Given the description of an element on the screen output the (x, y) to click on. 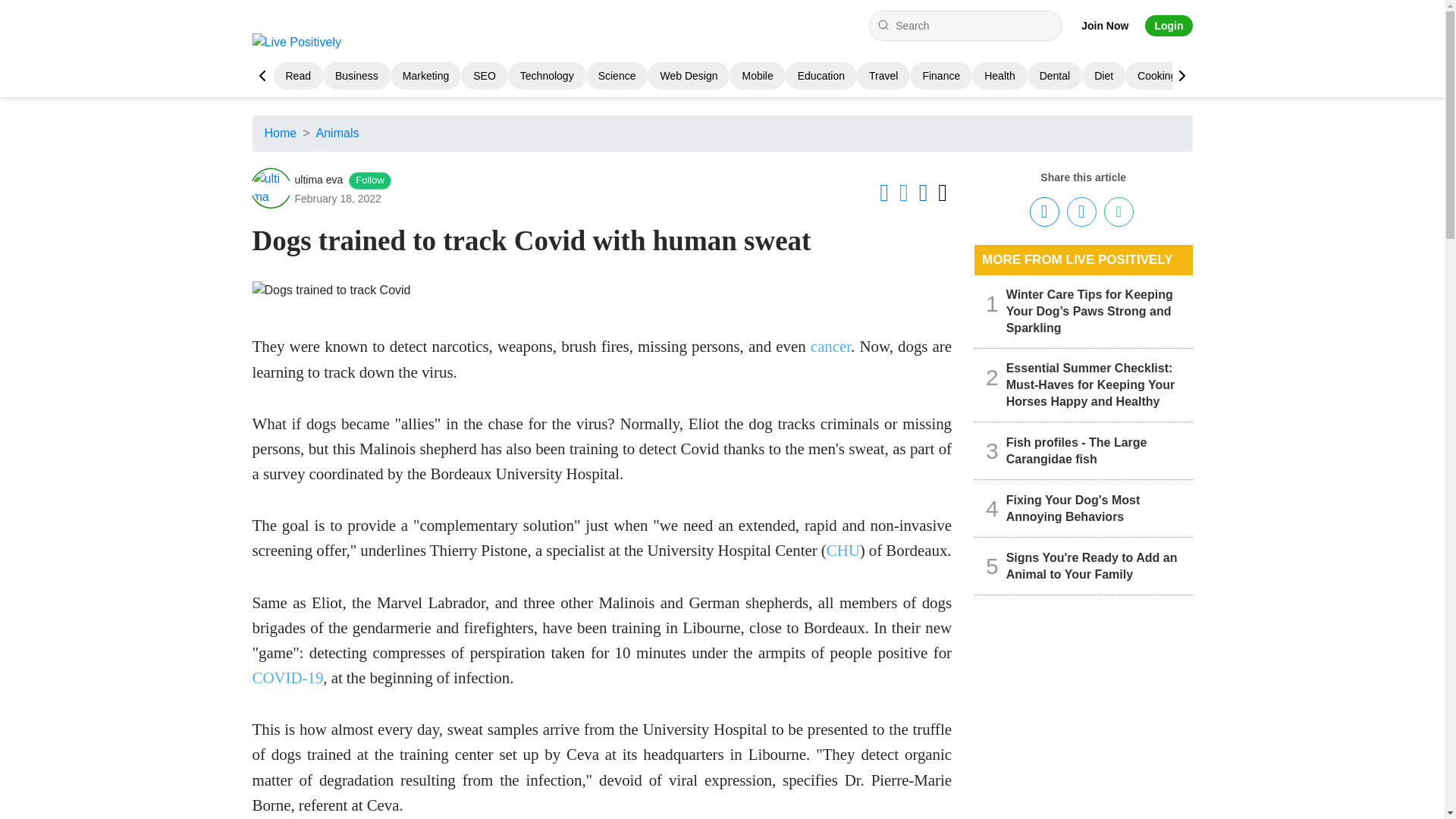
Livepositively (301, 42)
Business (356, 75)
Diet (1103, 75)
Join Now (1104, 25)
Technology (546, 75)
Dental (1054, 75)
Education (820, 75)
Share via Email (1118, 211)
Health (999, 75)
Read (297, 75)
